Given the description of an element on the screen output the (x, y) to click on. 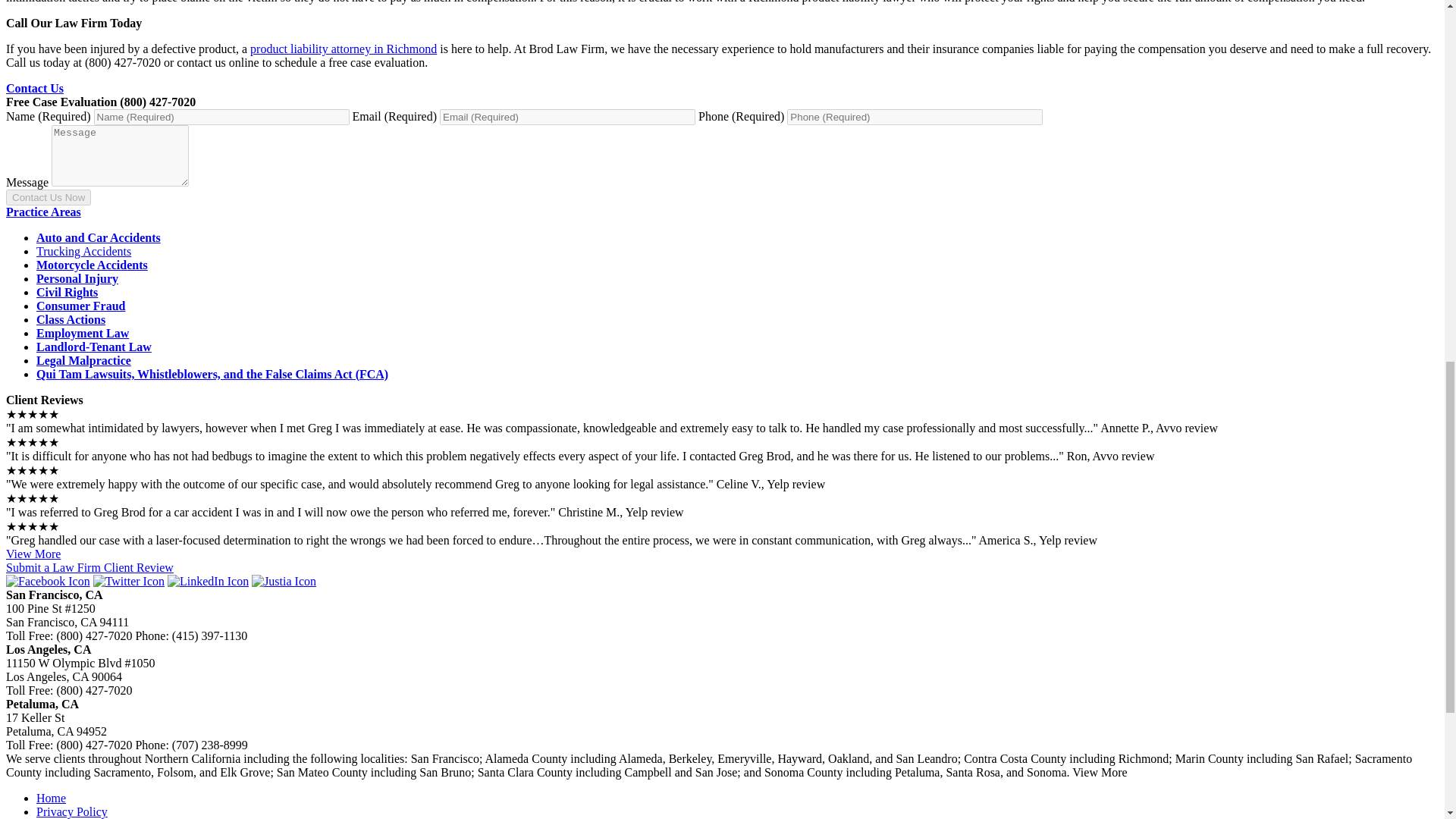
Contact Us Now (47, 197)
Motorcycle Accidents (92, 264)
Class Actions (70, 318)
Auto and Car Accidents (98, 237)
Civil Rights (66, 291)
Practice Areas (43, 211)
Employment Law (82, 332)
Justia (283, 581)
Contact Us (34, 88)
Twitter (128, 581)
